Given the description of an element on the screen output the (x, y) to click on. 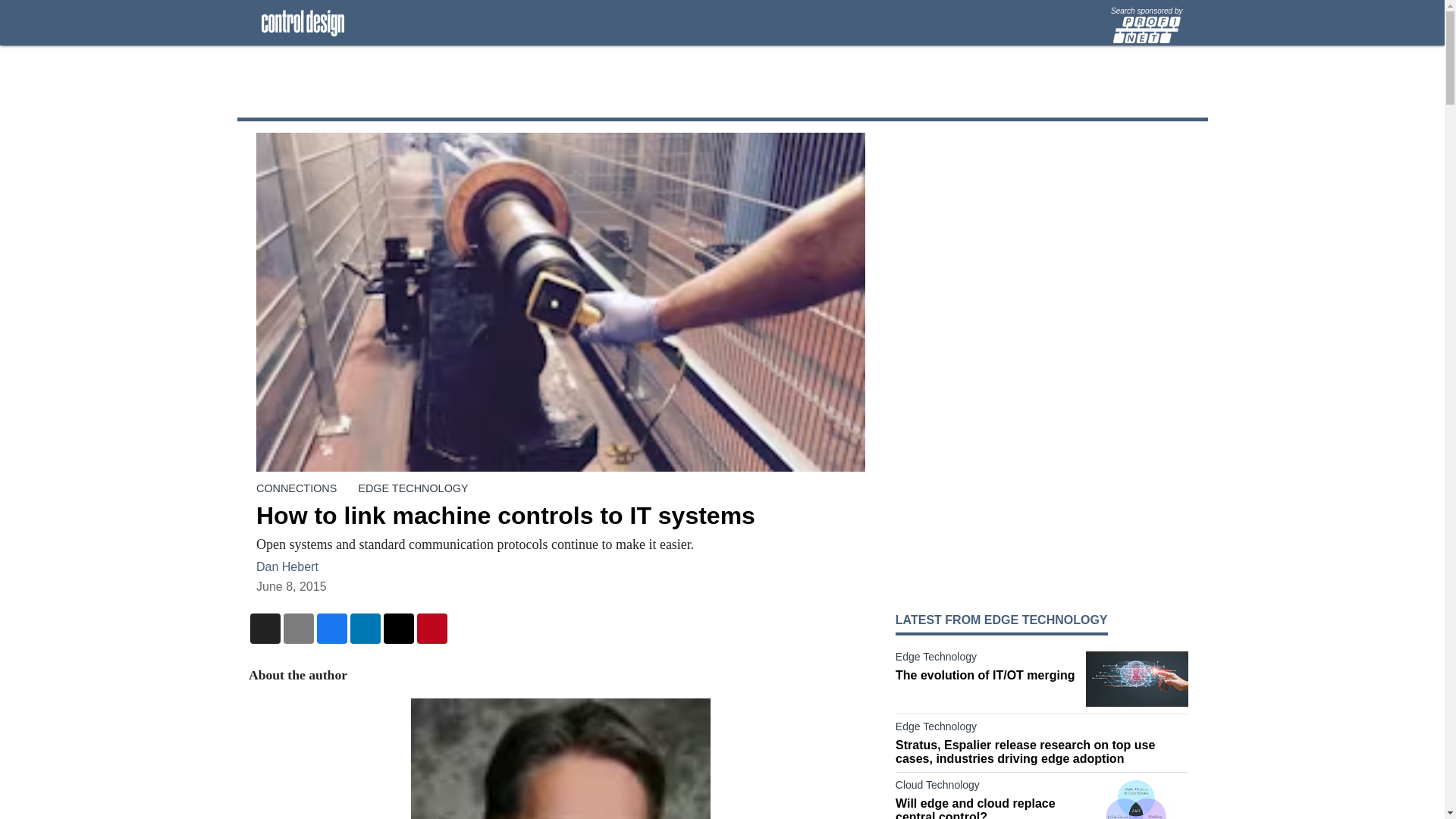
EDGE TECHNOLOGY (412, 488)
hebert (560, 758)
CONNECTIONS (296, 488)
Dan Hebert (287, 565)
